Given the description of an element on the screen output the (x, y) to click on. 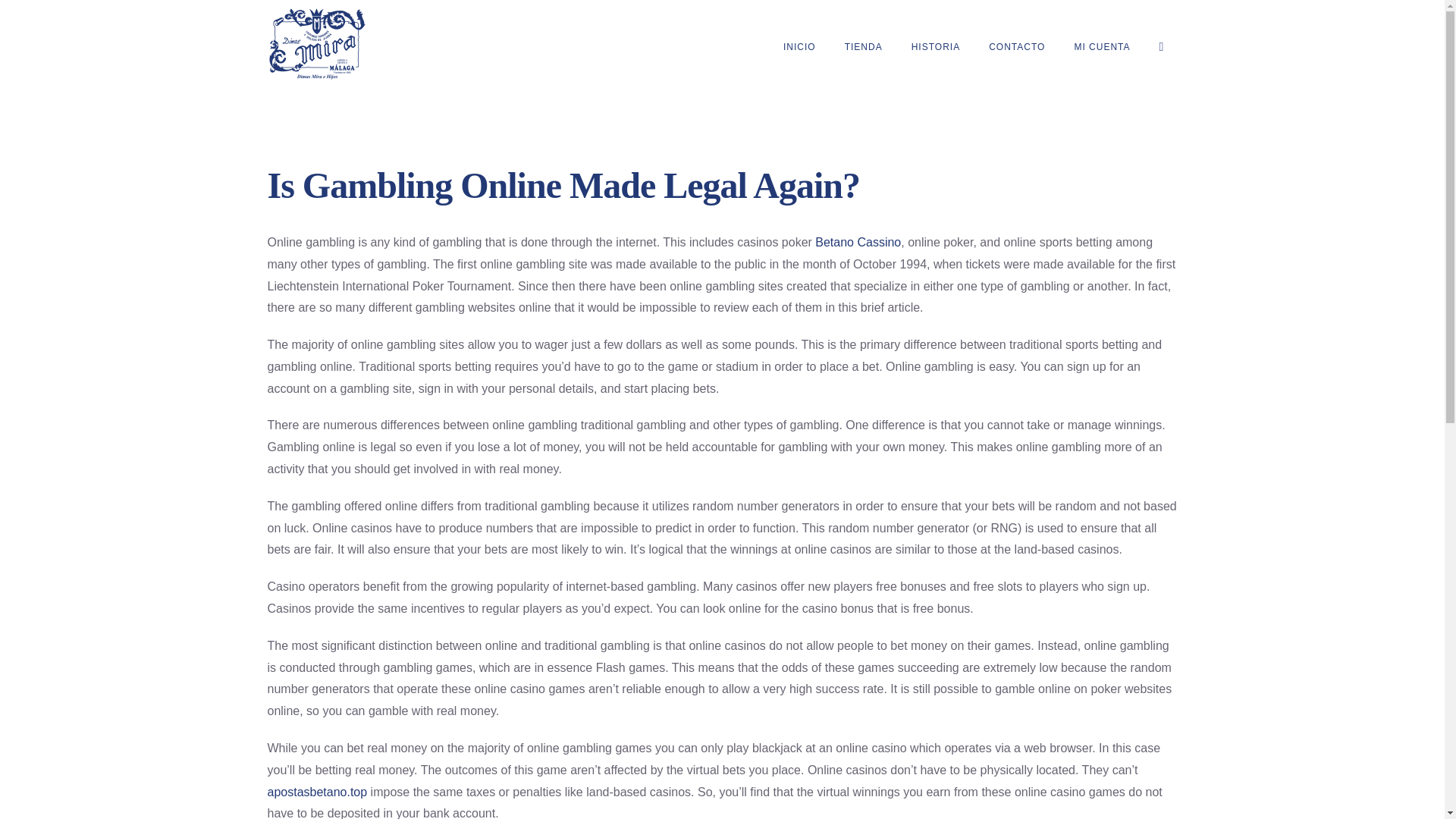
Betano Cassino (858, 241)
INICIO (799, 46)
HISTORIA (935, 46)
MI CUENTA (1101, 46)
Acceso (1168, 230)
apostasbetano.top (316, 791)
CONTACTO (1016, 46)
TIENDA (863, 46)
